Given the description of an element on the screen output the (x, y) to click on. 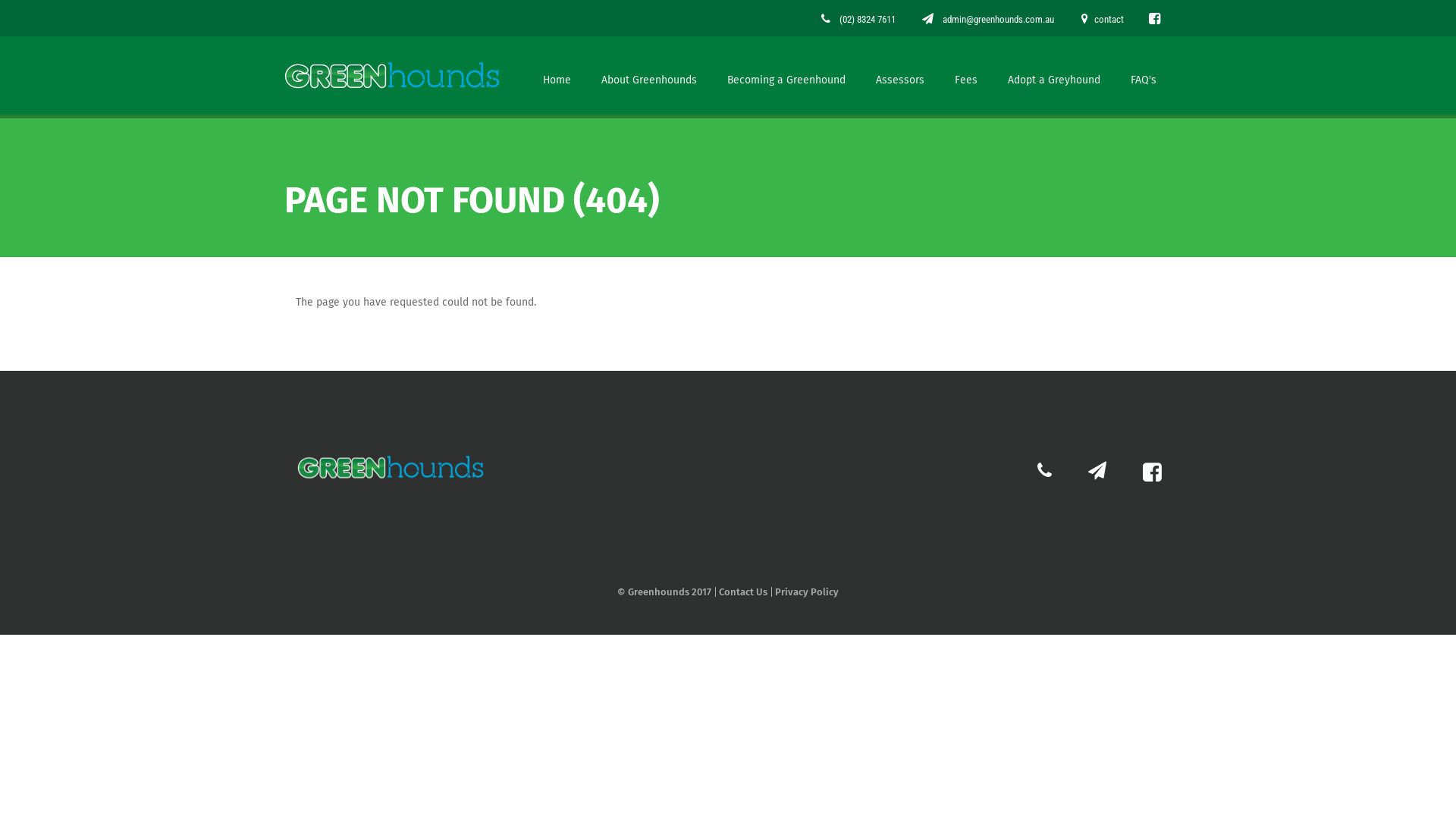
(02) 8324 7611 Element type: text (858, 19)
Fees Element type: text (965, 75)
admin@greenhounds.com.au Element type: text (988, 19)
Privacy Policy Element type: text (804, 591)
Adopt a Greyhound Element type: text (1053, 75)
Assessors Element type: text (899, 75)
Greenhounds Element type: text (390, 466)
contact Element type: text (1102, 19)
Home Element type: text (556, 75)
Becoming a Greenhound Element type: text (786, 75)
Greenhounds Element type: text (391, 75)
About Greenhounds Element type: text (649, 75)
Contact Us Element type: text (741, 591)
FAQ's Element type: text (1143, 75)
